Given the description of an element on the screen output the (x, y) to click on. 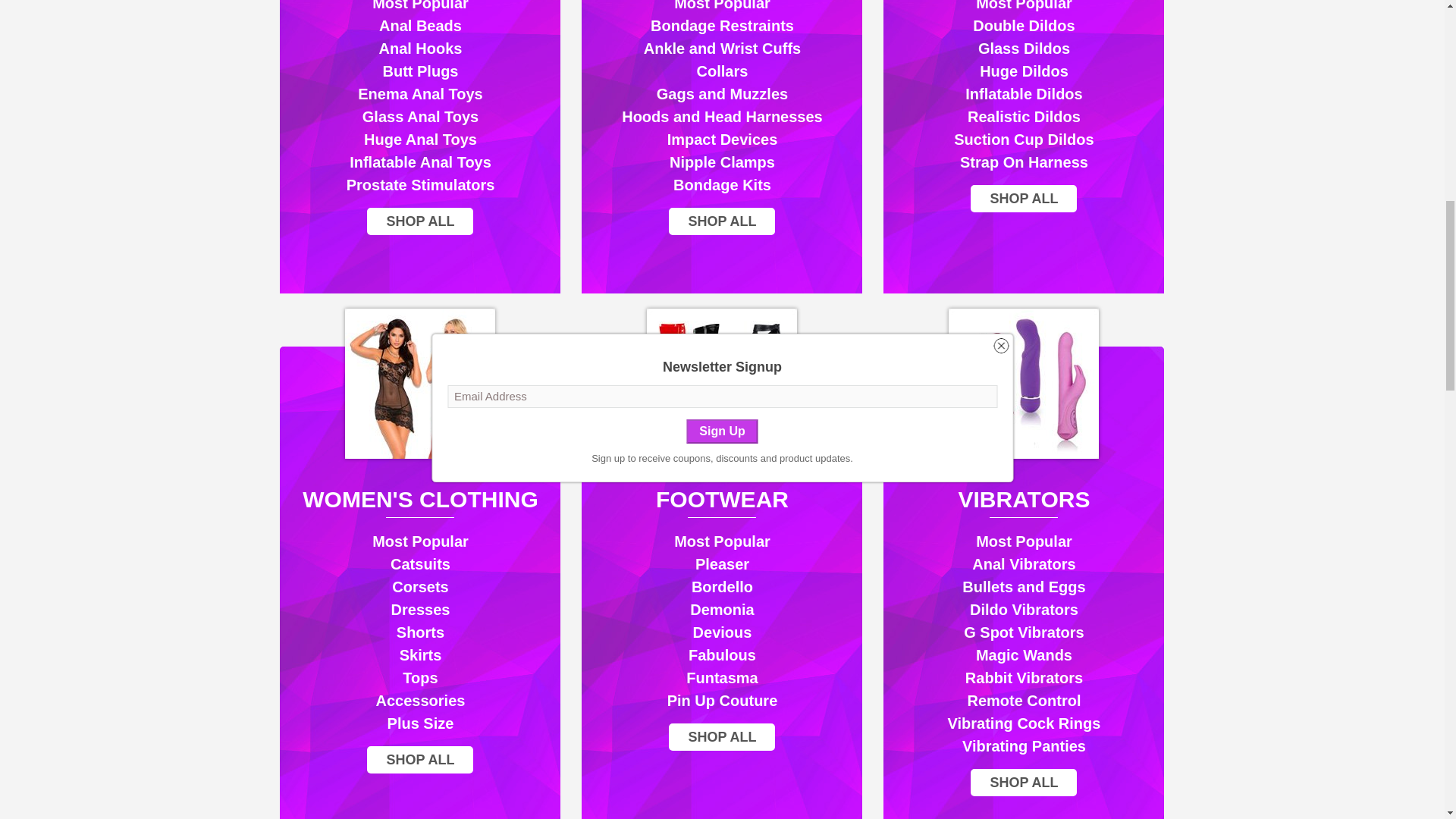
Bondage fetish bdsm FOOTWEAR (721, 383)
Bondage fetish bdsm WOMEN'S CLOTHING (420, 383)
